Given the description of an element on the screen output the (x, y) to click on. 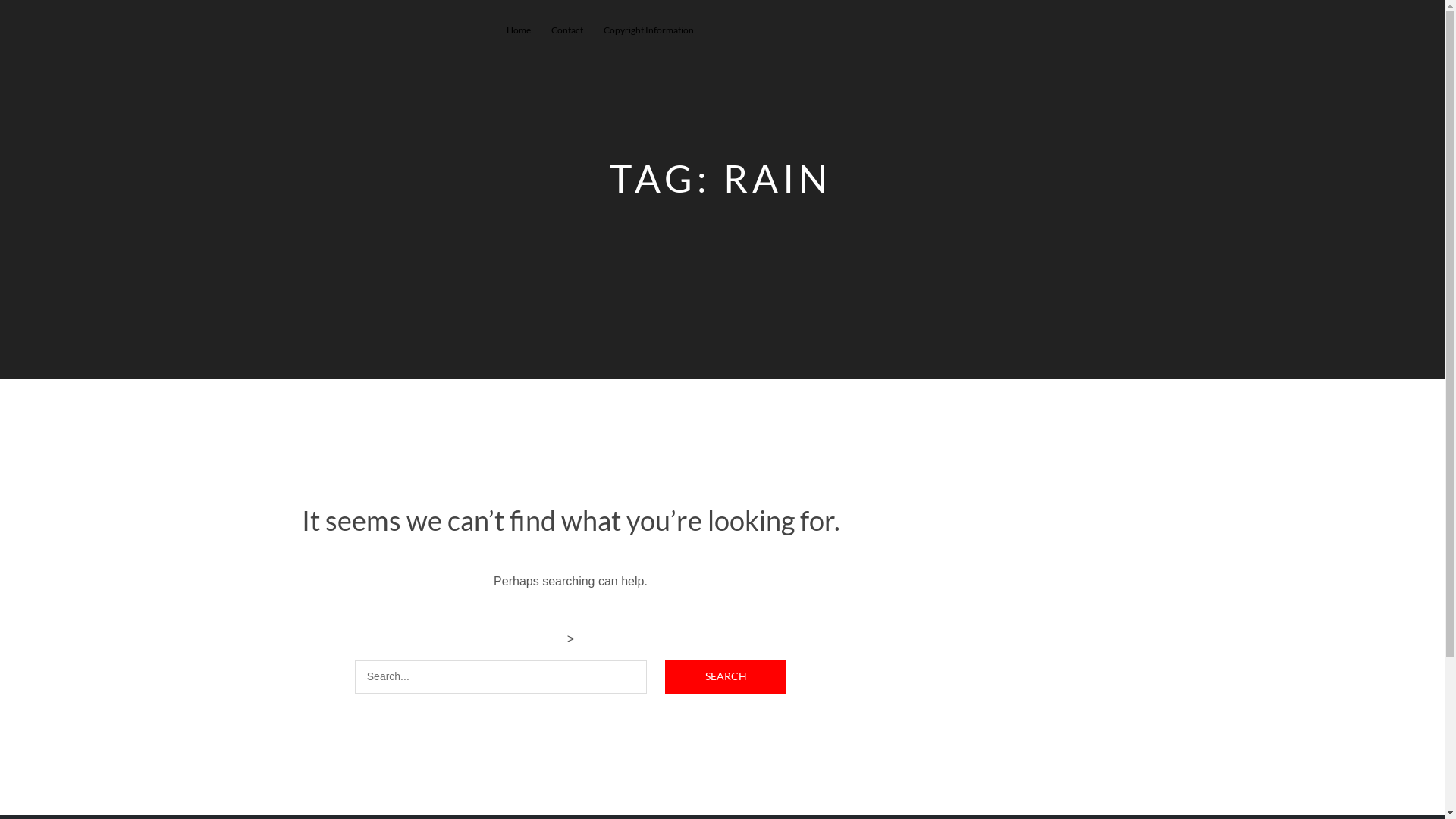
Home Element type: text (518, 30)
Contact Element type: text (566, 30)
SEARCH Element type: text (725, 676)
Copyright Information Element type: text (648, 30)
